Given the description of an element on the screen output the (x, y) to click on. 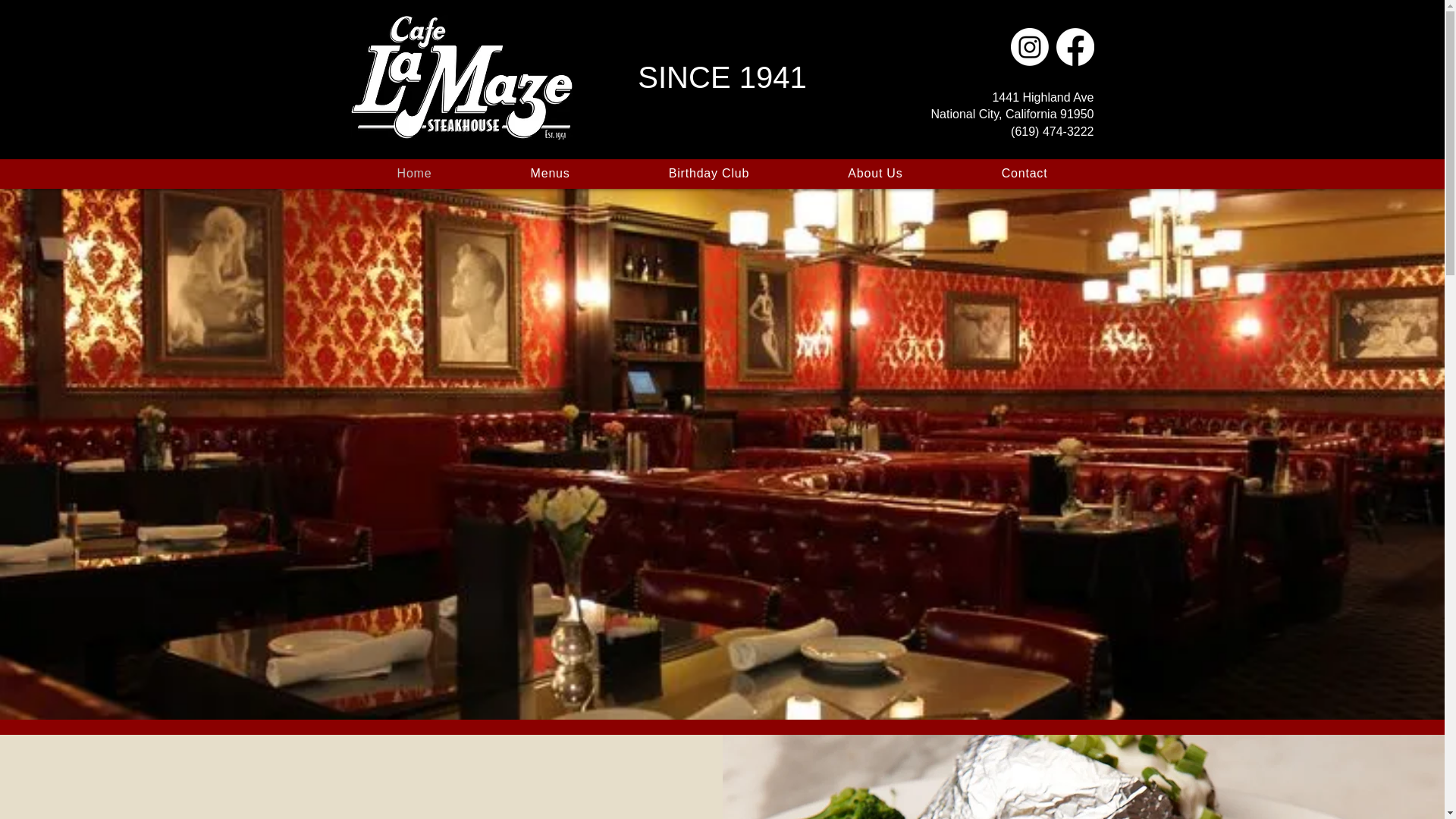
Contact (1024, 173)
Home (413, 173)
Birthday Club (709, 173)
About Us (875, 173)
Menus (549, 173)
